Given the description of an element on the screen output the (x, y) to click on. 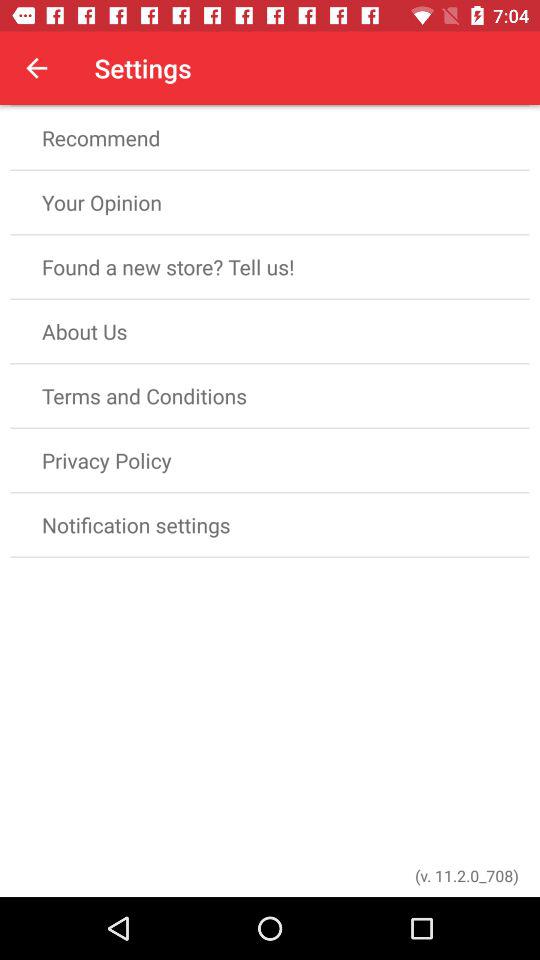
jump to the privacy policy icon (269, 460)
